Given the description of an element on the screen output the (x, y) to click on. 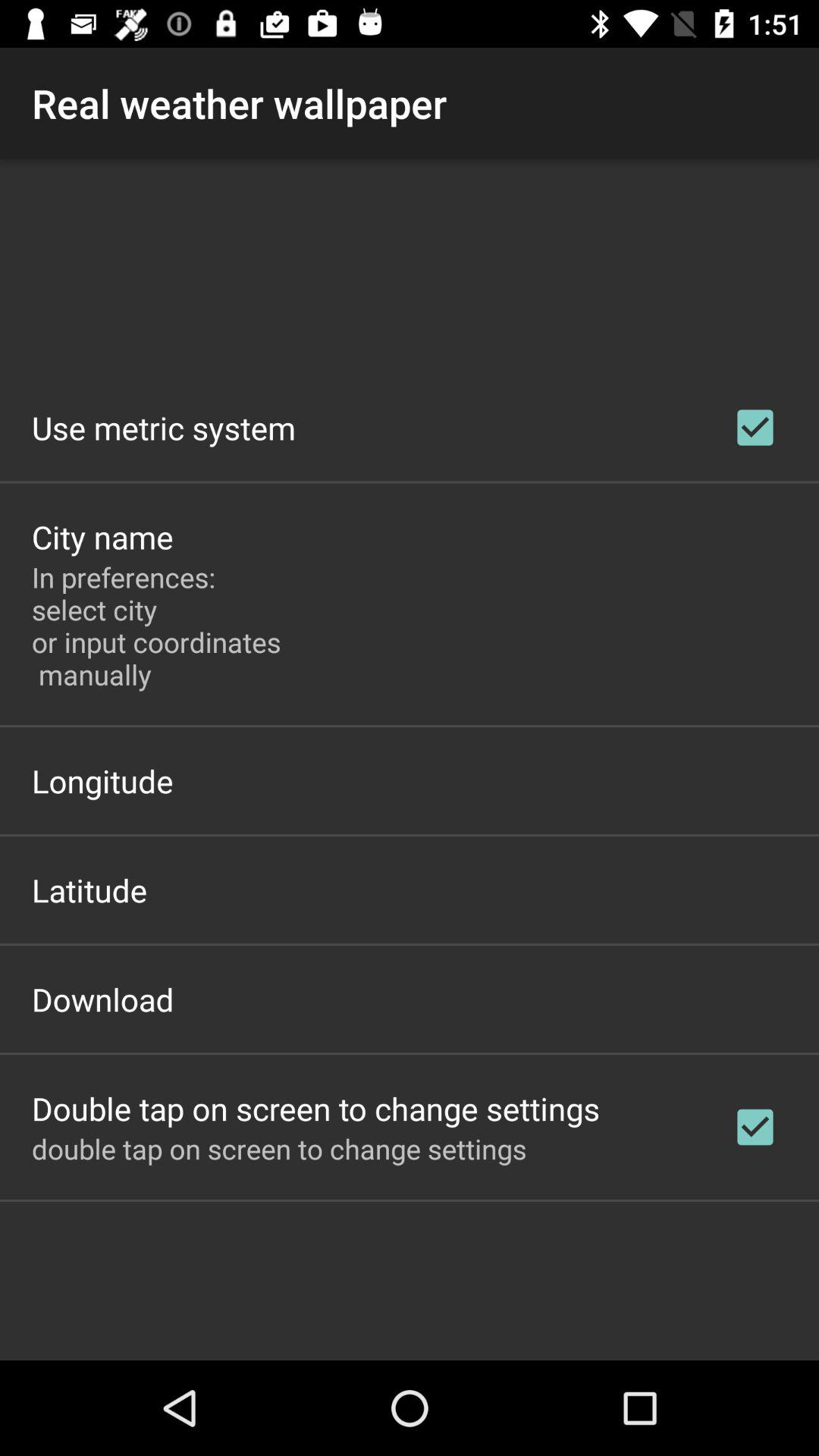
open in preferences select (160, 625)
